Given the description of an element on the screen output the (x, y) to click on. 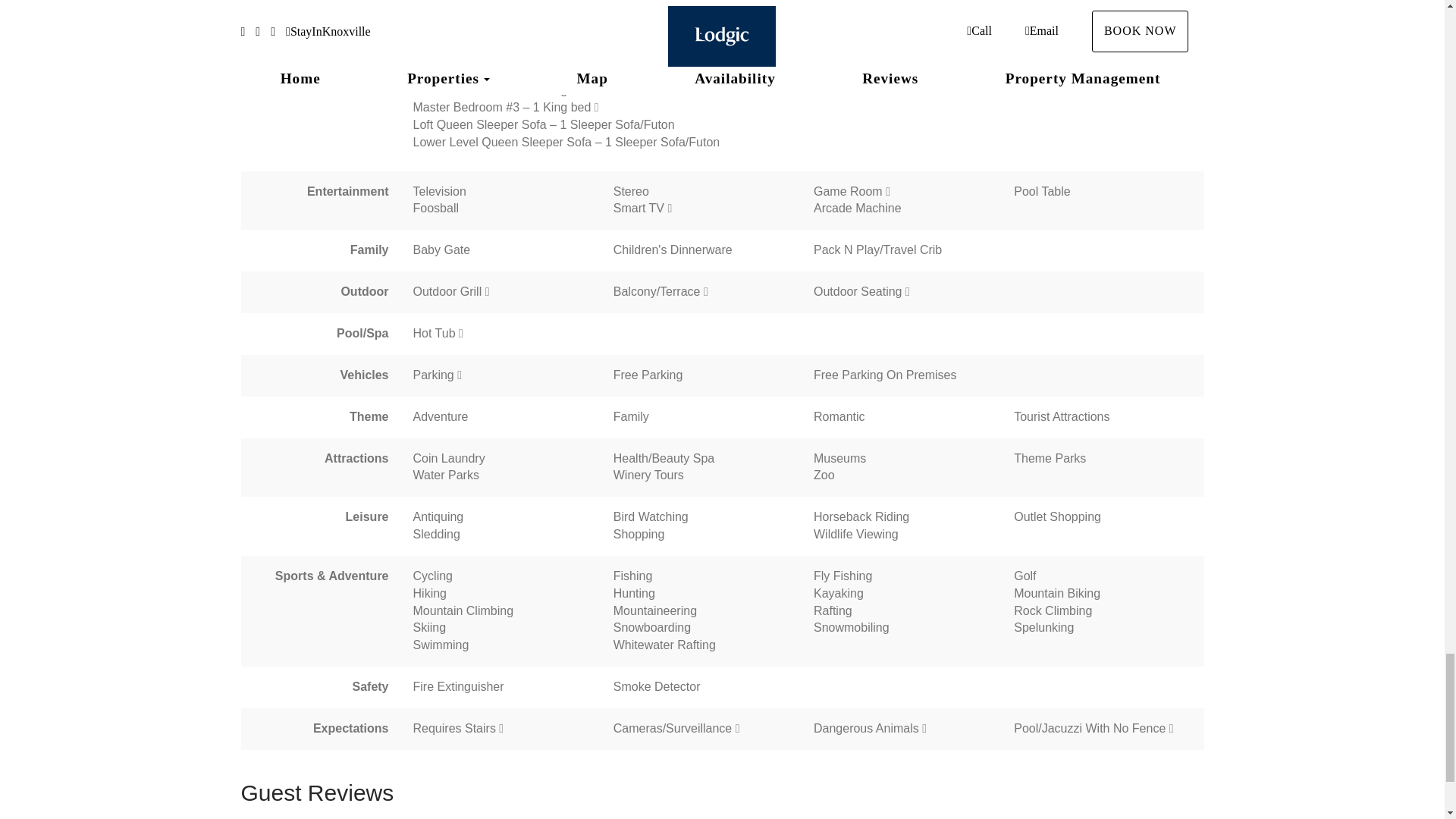
Entry level master bedroom (596, 72)
